Given the description of an element on the screen output the (x, y) to click on. 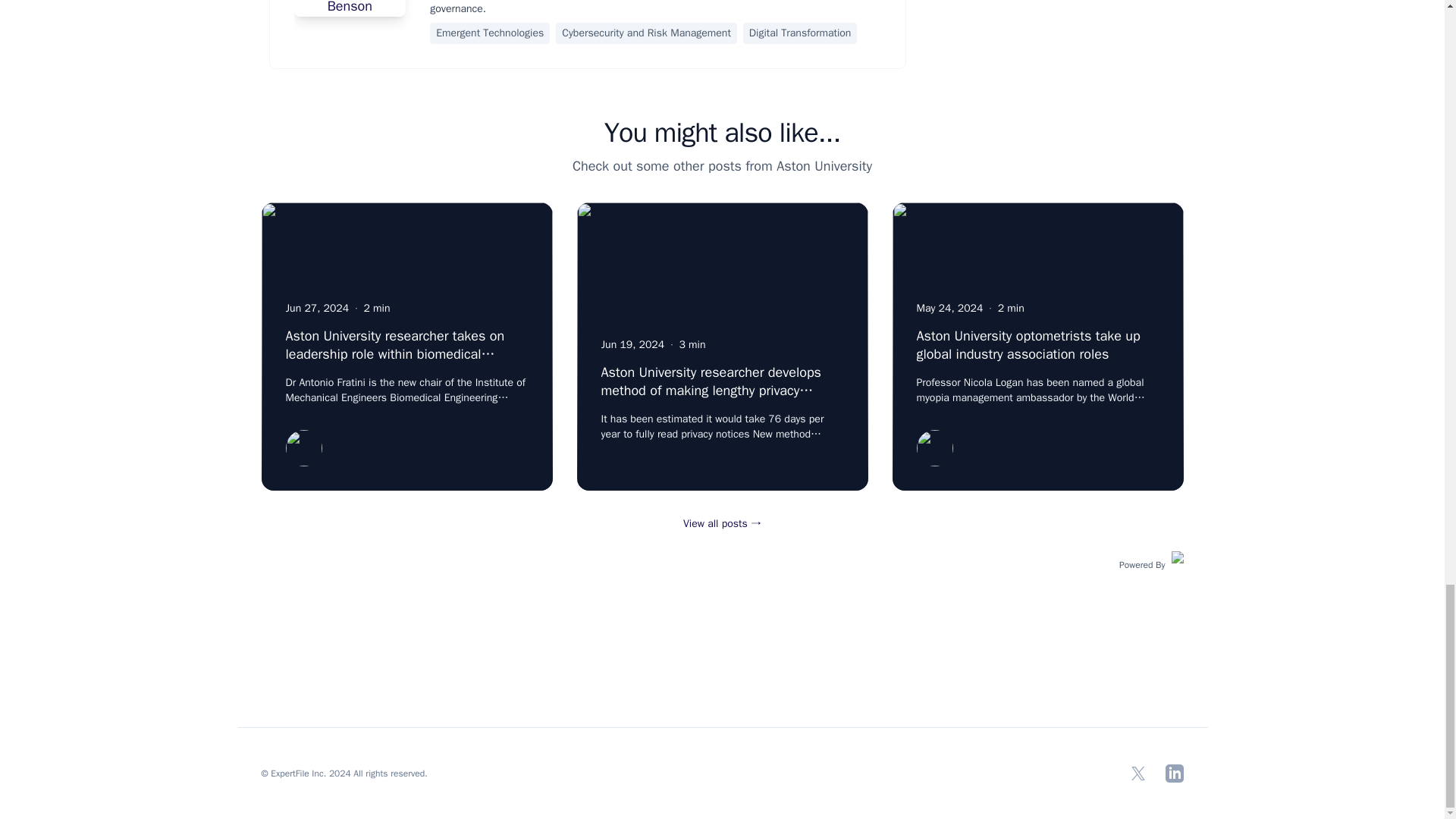
X (1137, 773)
LinkedIn (1173, 773)
Powered By (1150, 563)
